Given the description of an element on the screen output the (x, y) to click on. 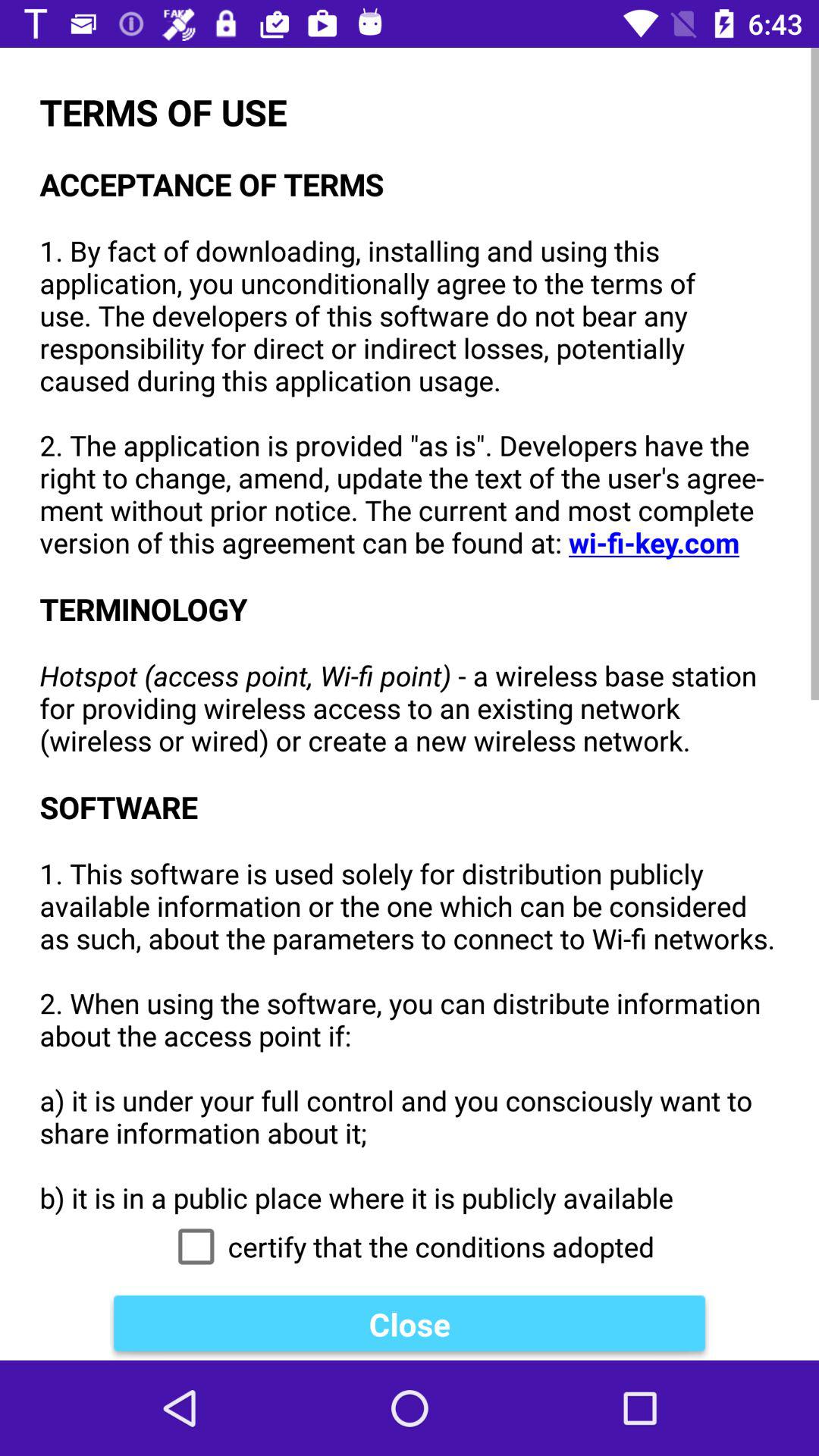
turn on certify that the item (409, 1246)
